Given the description of an element on the screen output the (x, y) to click on. 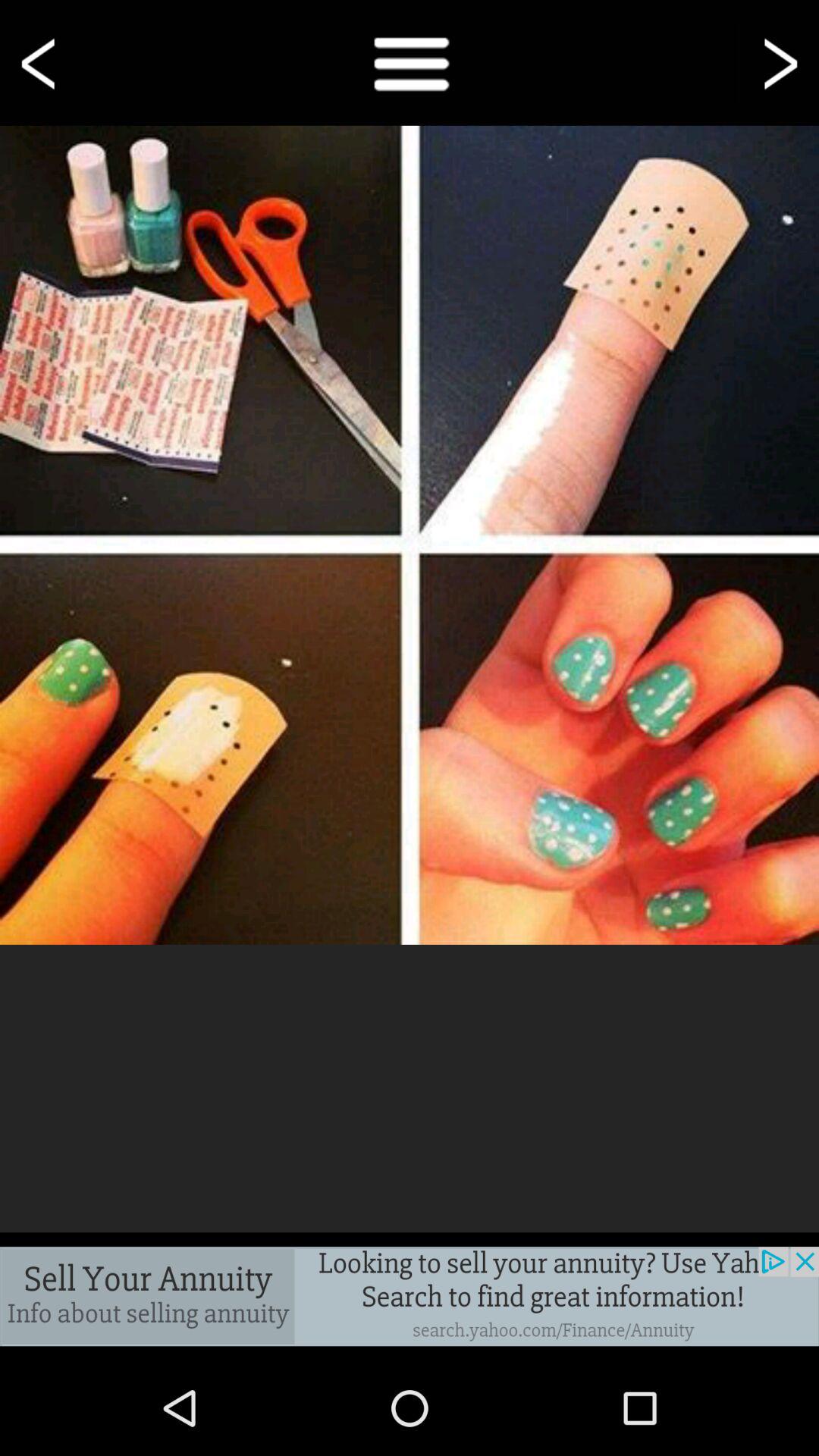
learn to make yourself the best nail decorations and the most original (409, 534)
